Given the description of an element on the screen output the (x, y) to click on. 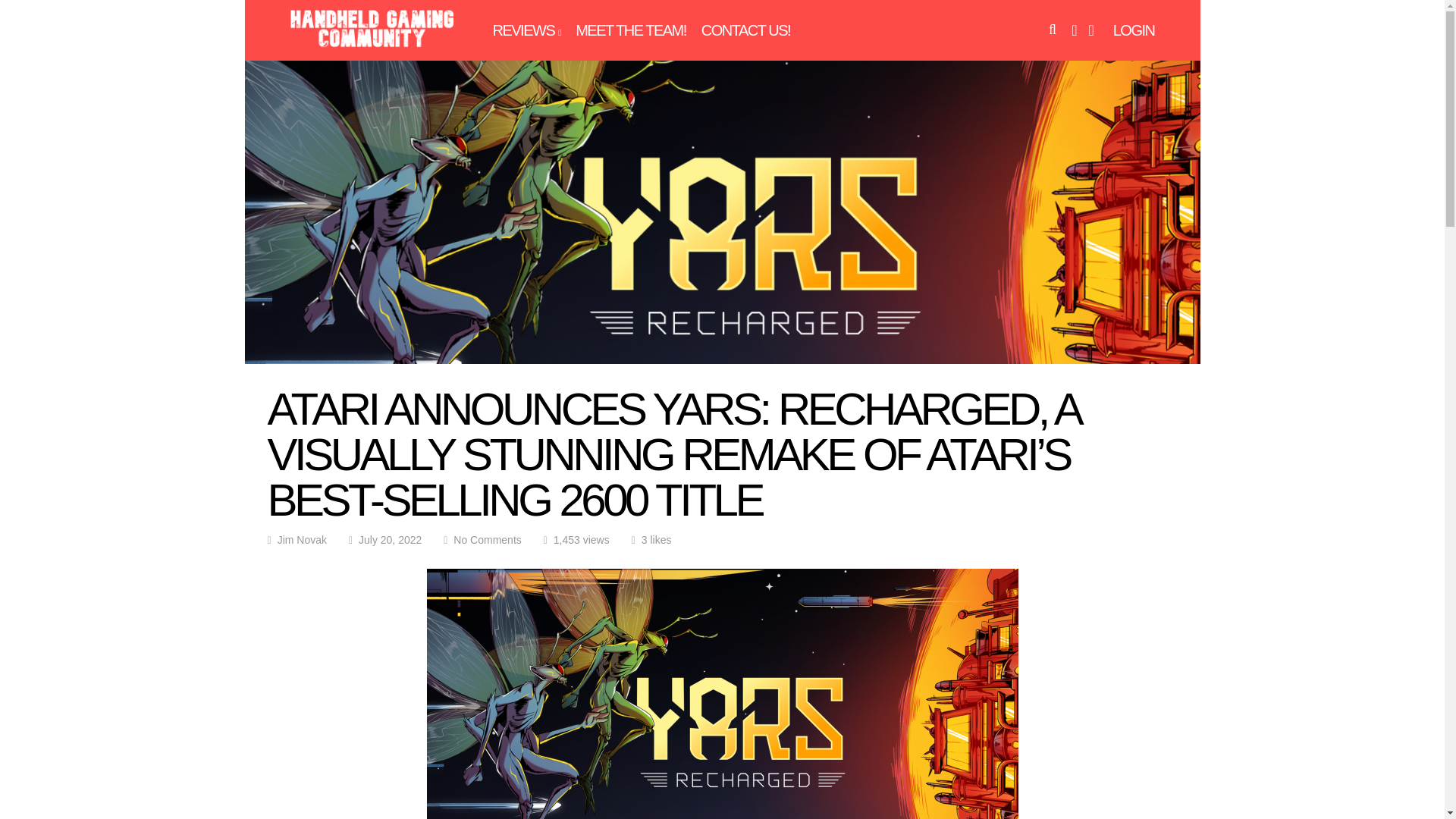
LOGIN (1133, 29)
REVIEWS (526, 29)
Handheld Gaming Community (371, 47)
No Comments (486, 539)
Jim Novak (302, 539)
CONTACT US! (745, 29)
MEET THE TEAM! (630, 29)
